Given the description of an element on the screen output the (x, y) to click on. 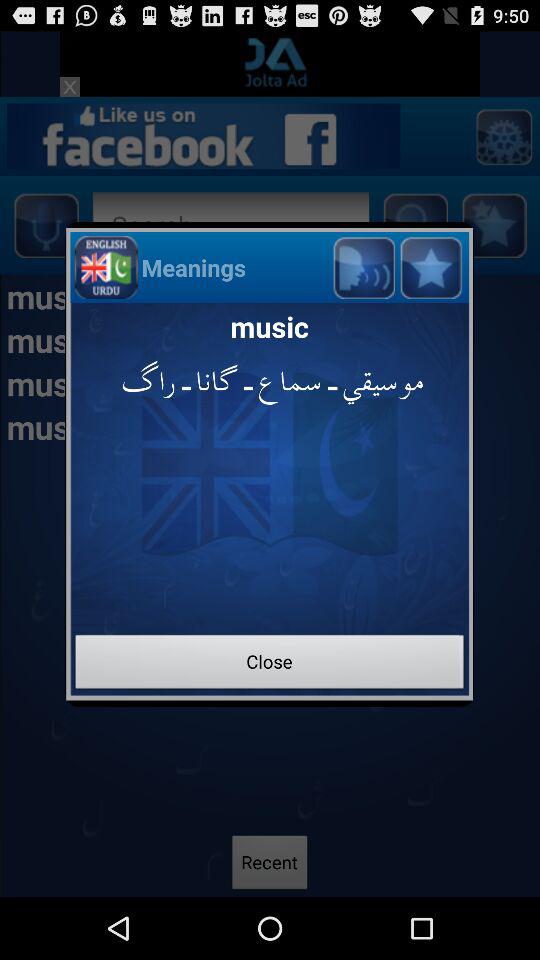
volume button (363, 266)
